Given the description of an element on the screen output the (x, y) to click on. 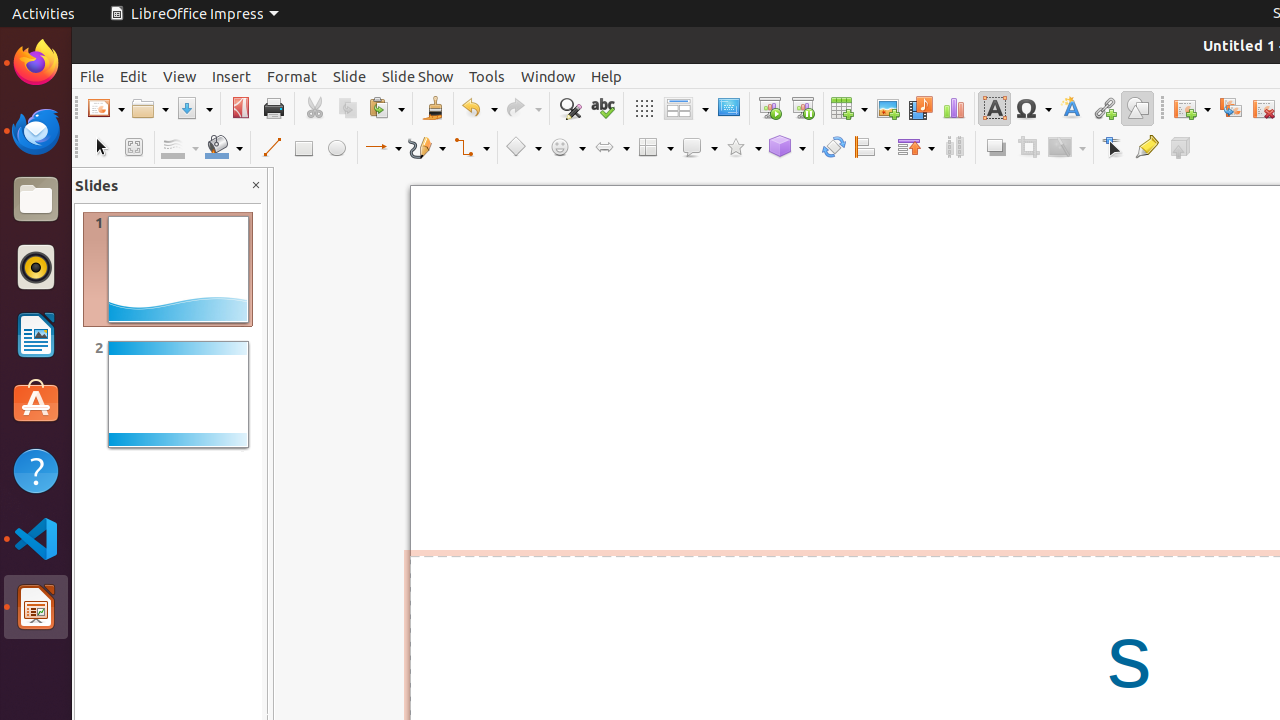
Distribution Element type: push-button (954, 147)
Edit Element type: menu (133, 76)
File Element type: menu (92, 76)
Line Color Element type: push-button (180, 147)
Tools Element type: menu (487, 76)
